Given the description of an element on the screen output the (x, y) to click on. 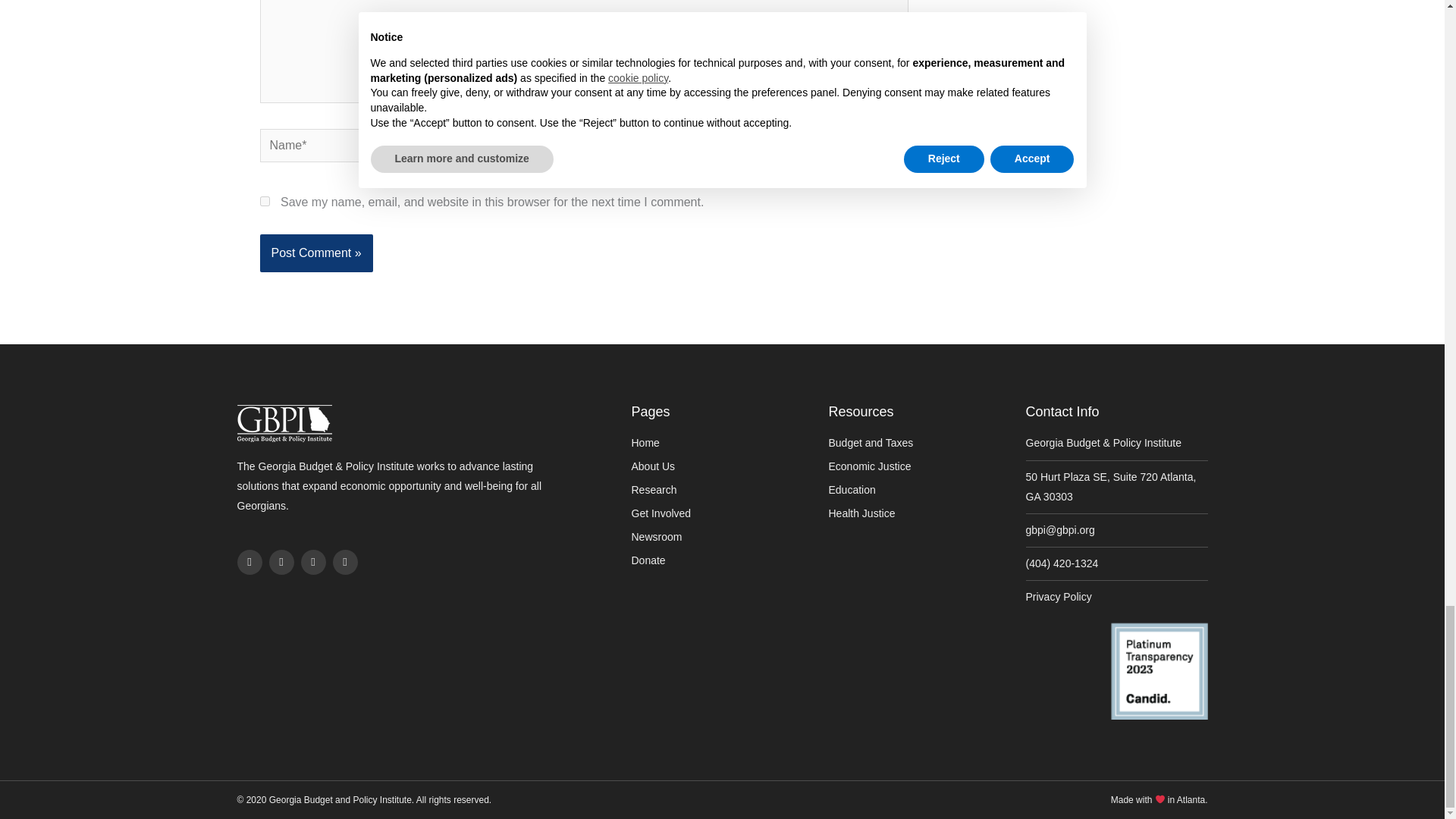
yes (264, 201)
